Given the description of an element on the screen output the (x, y) to click on. 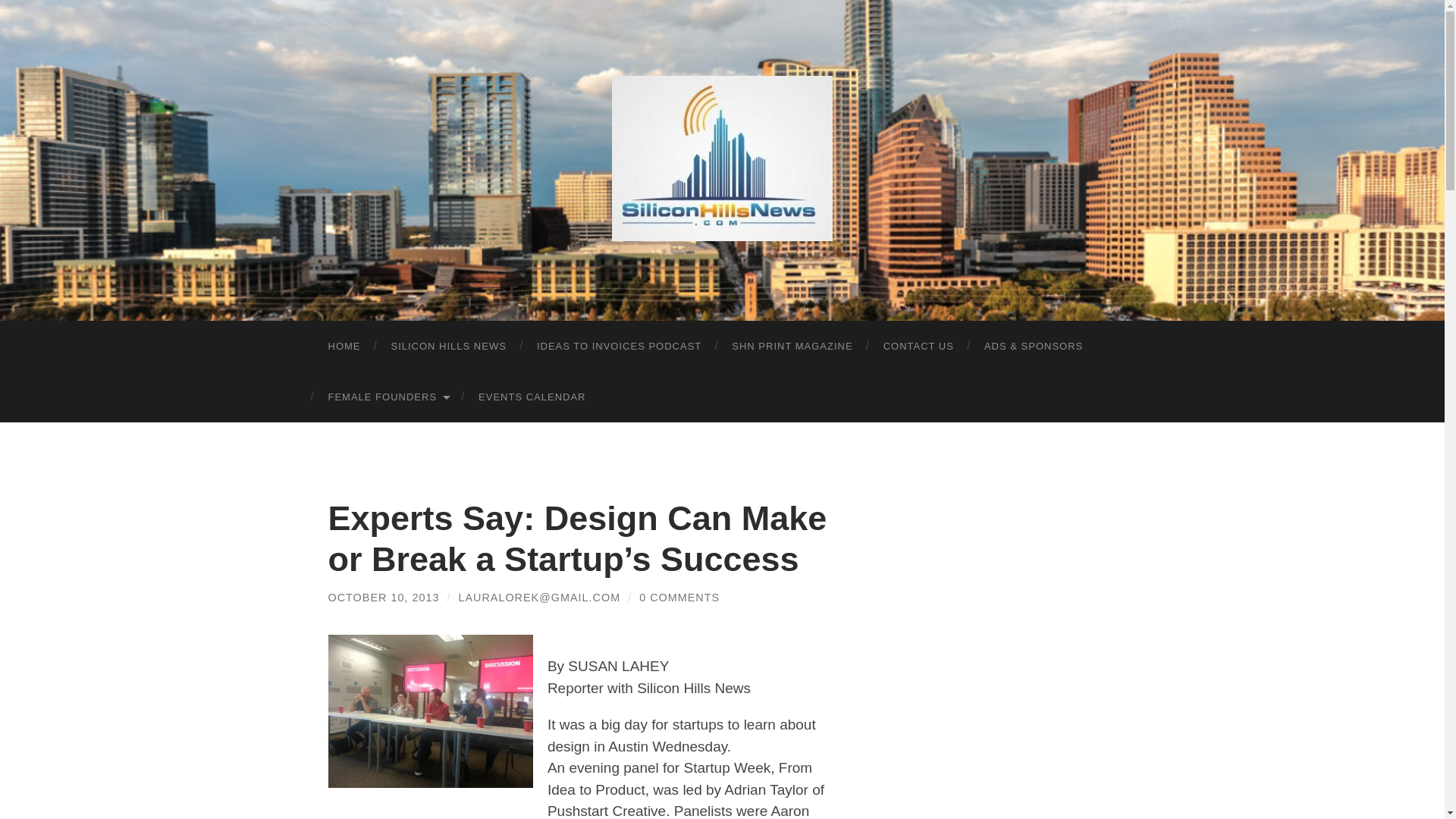
IDEAS TO INVOICES PODCAST (618, 346)
CONTACT US (918, 346)
FEMALE FOUNDERS (388, 396)
SILICON HILLS NEWS (448, 346)
0 COMMENTS (679, 597)
HOME (344, 346)
SHN PRINT MAGAZINE (791, 346)
SiliconHills (721, 158)
EVENTS CALENDAR (531, 396)
OCTOBER 10, 2013 (383, 597)
